Given the description of an element on the screen output the (x, y) to click on. 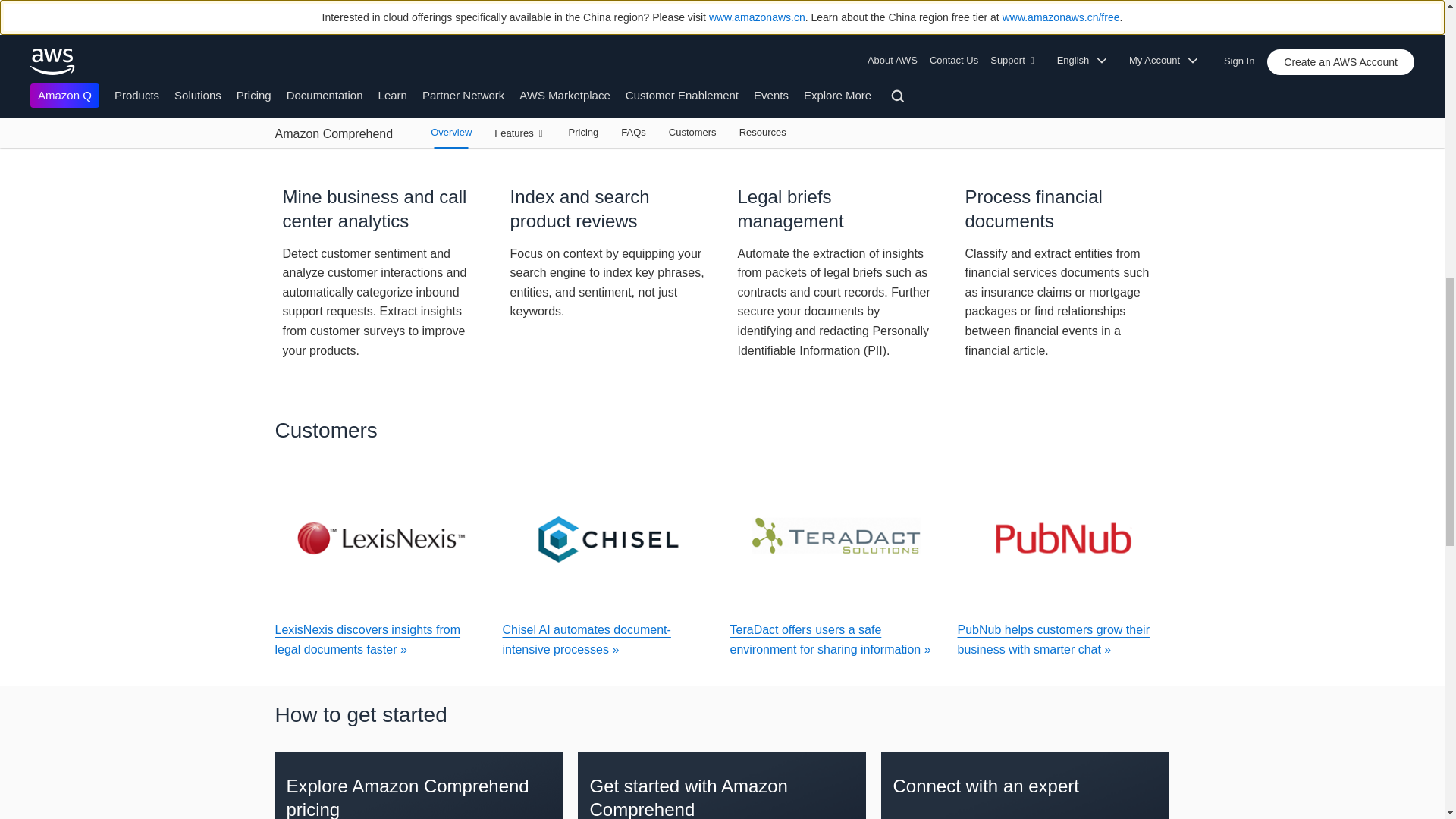
PubNub Customer Story (1062, 538)
LexisNexis Customer Story (380, 538)
Chisel AI Customer Story (608, 538)
TeraDact Customer Story (835, 538)
